Given the description of an element on the screen output the (x, y) to click on. 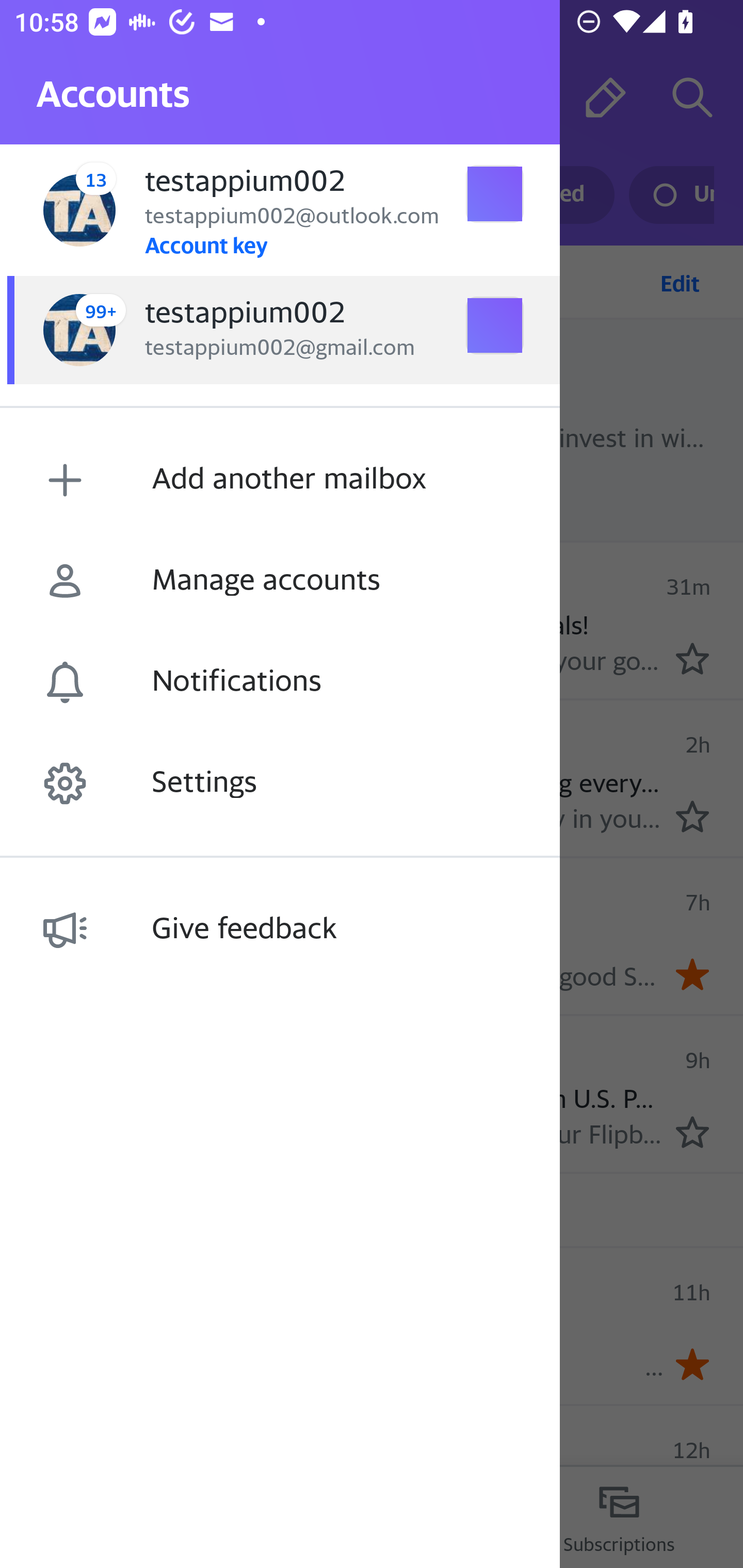
Account key (205, 244)
Add another mailbox (279, 479)
Manage accounts (279, 580)
Notifications (279, 681)
Settings (279, 783)
Profile
Me & Todoist (64, 776)
Give feedback (279, 929)
Profile
SHEIN (64, 934)
